Given the description of an element on the screen output the (x, y) to click on. 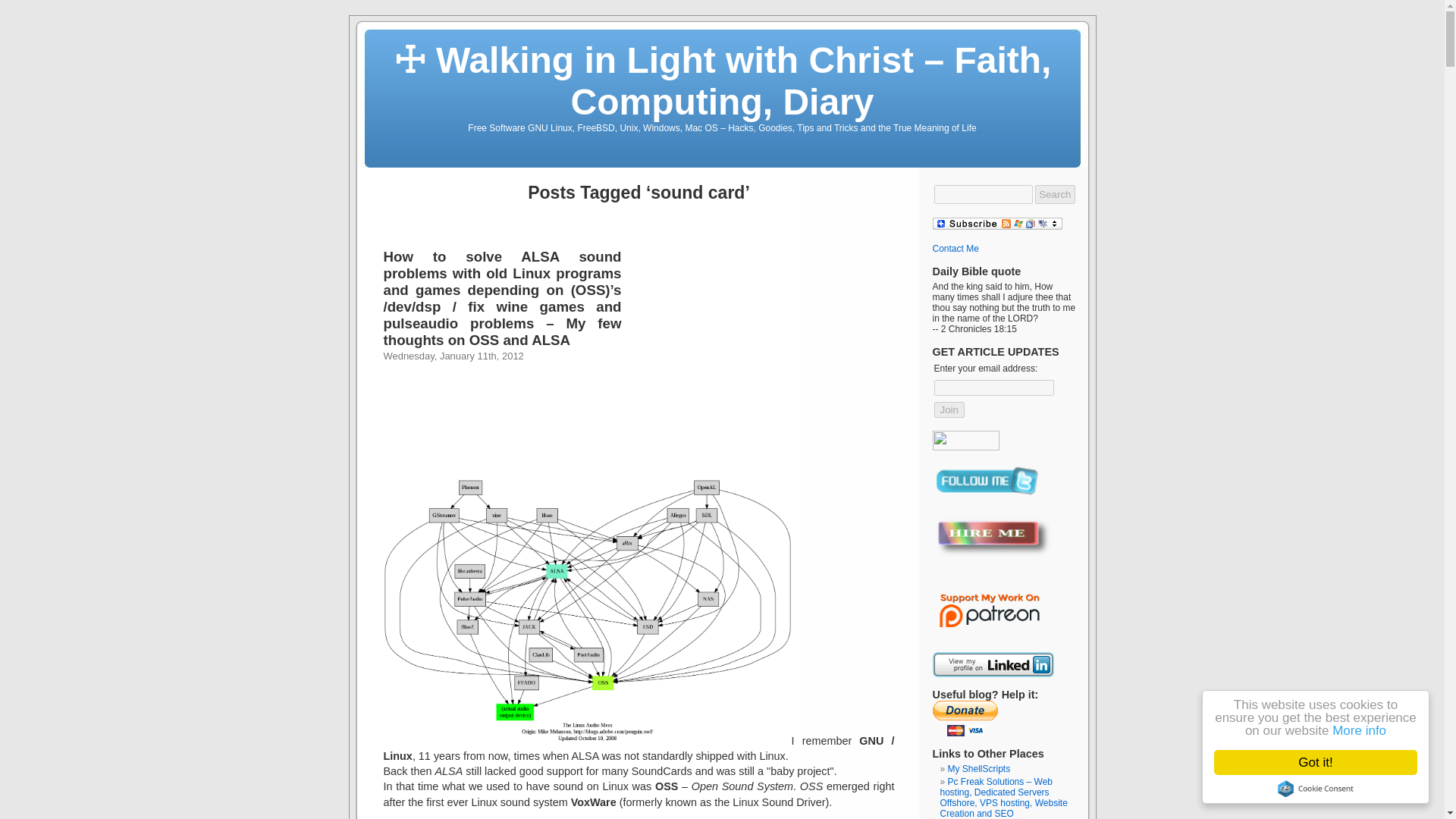
Advertisement (757, 363)
Got it! (1329, 762)
Cookie Consent plugin for the EU cookie law (1327, 788)
Follow Pc-Freak Blog on Twitter (987, 479)
More info (1372, 730)
Search (1054, 194)
Join (948, 409)
